Given the description of an element on the screen output the (x, y) to click on. 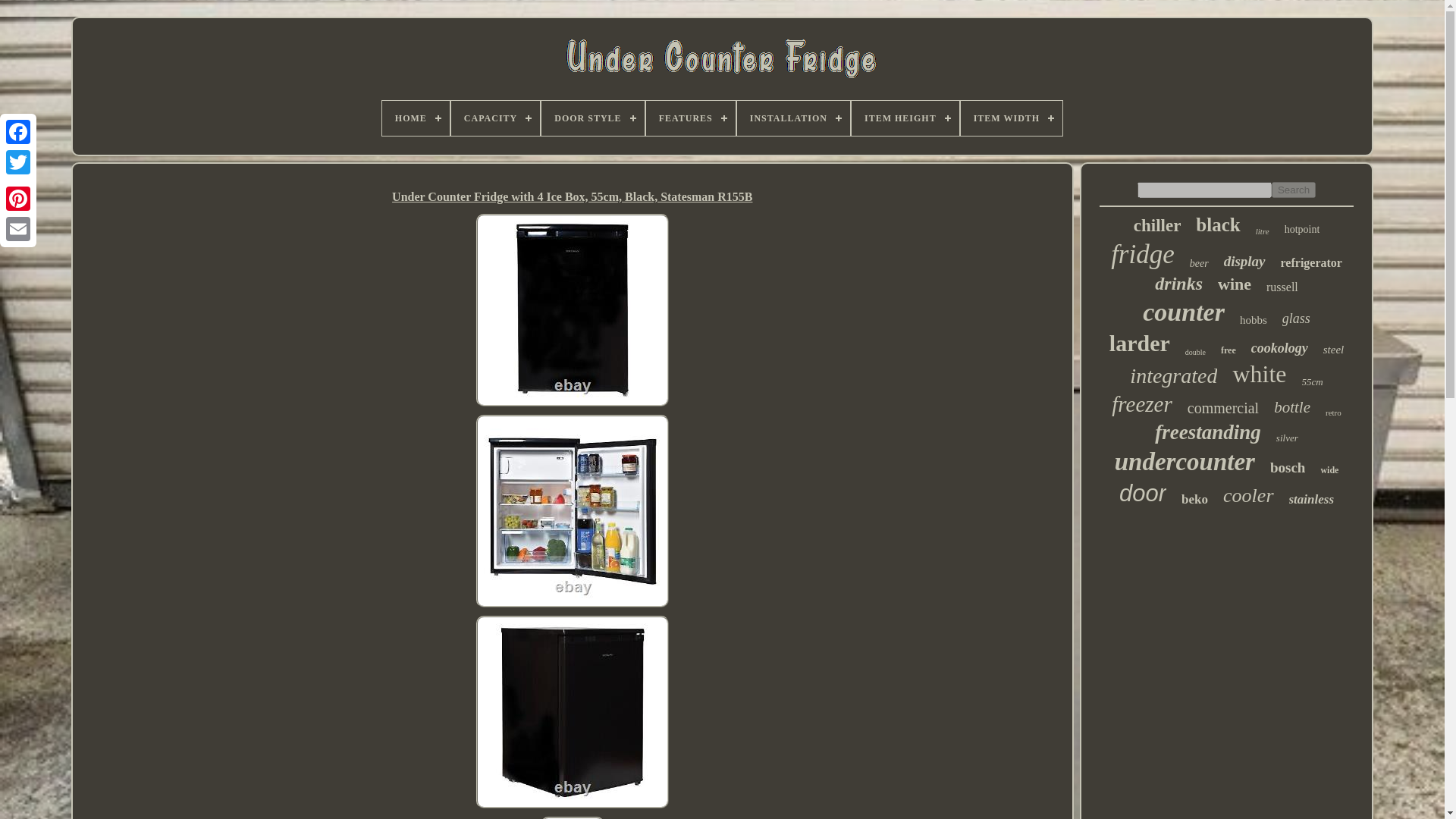
Search (1293, 189)
CAPACITY (495, 117)
HOME (415, 117)
DOOR STYLE (592, 117)
